Given the description of an element on the screen output the (x, y) to click on. 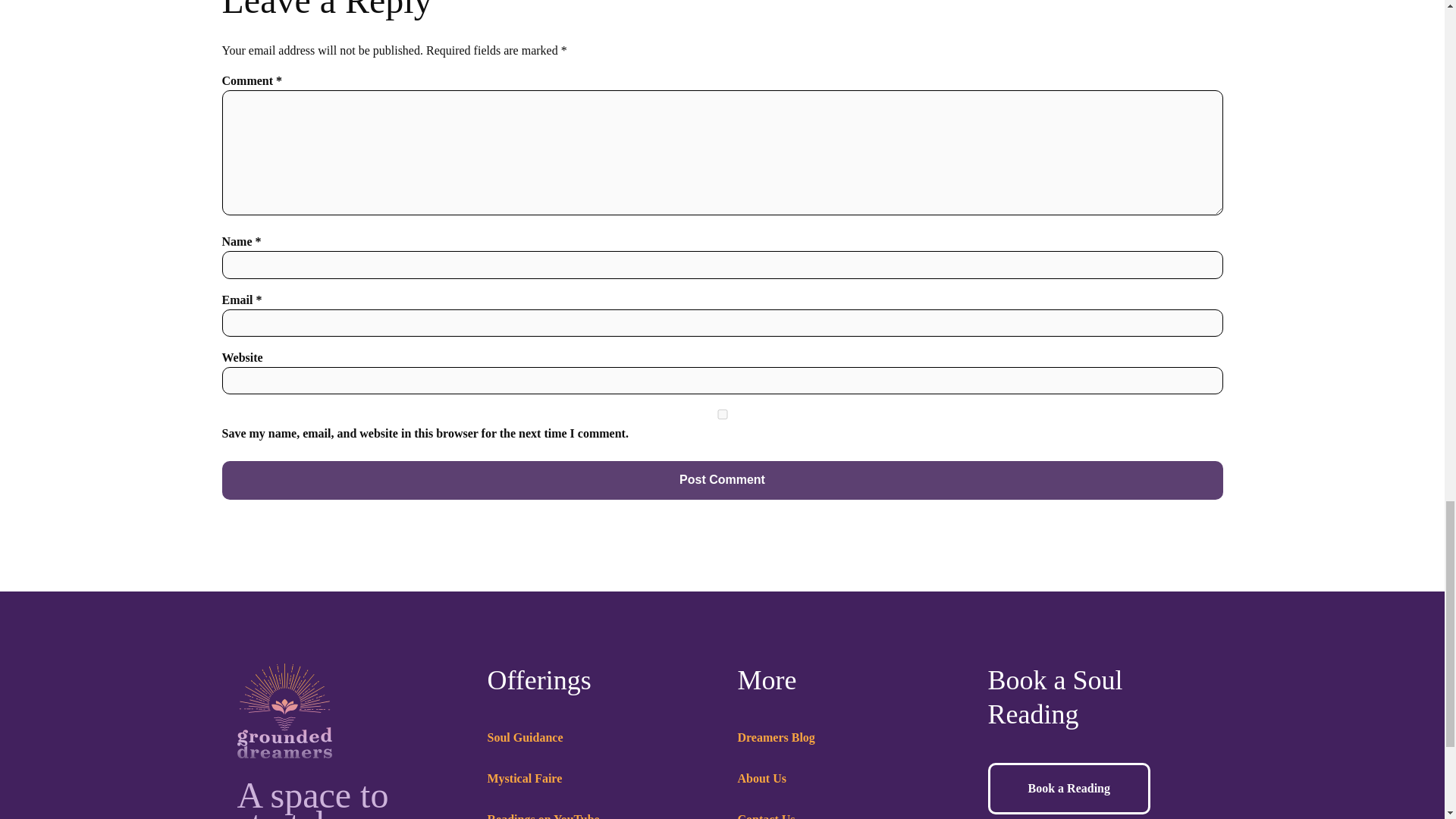
Dreamers Blog (774, 737)
Post Comment (722, 479)
Contact Us (765, 814)
Readings on YouTube (542, 814)
Book a Reading (1068, 788)
Soul Guidance (524, 737)
Mystical Faire (524, 778)
Post Comment (722, 479)
About Us (761, 778)
